Given the description of an element on the screen output the (x, y) to click on. 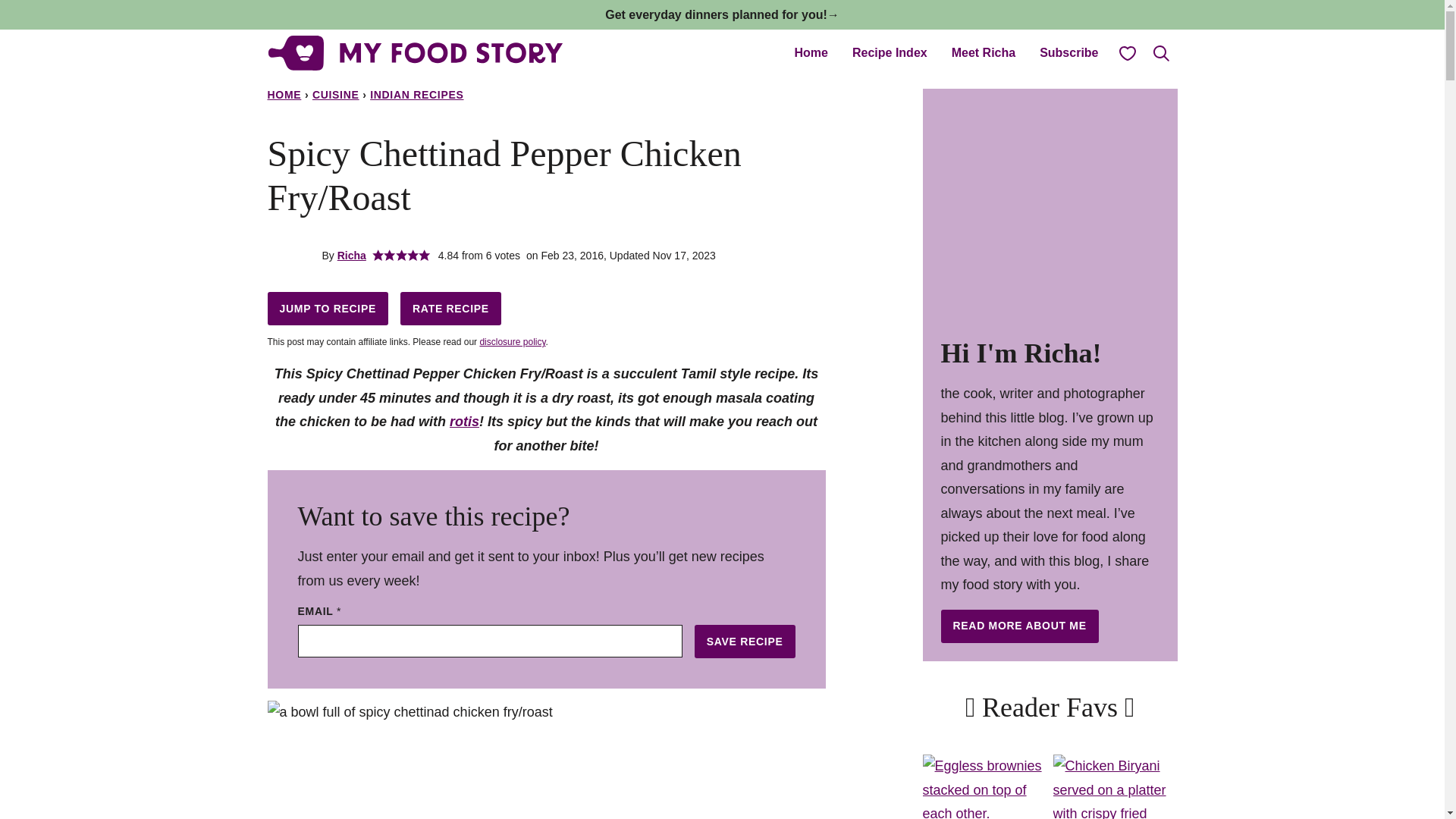
HOME (283, 94)
Meet Richa (983, 52)
Subscribe (1068, 52)
SAVE RECIPE (744, 641)
Recipe Index (889, 52)
CUISINE (336, 94)
rotis (464, 421)
INDIAN RECIPES (416, 94)
My Favorites (1125, 52)
